Given the description of an element on the screen output the (x, y) to click on. 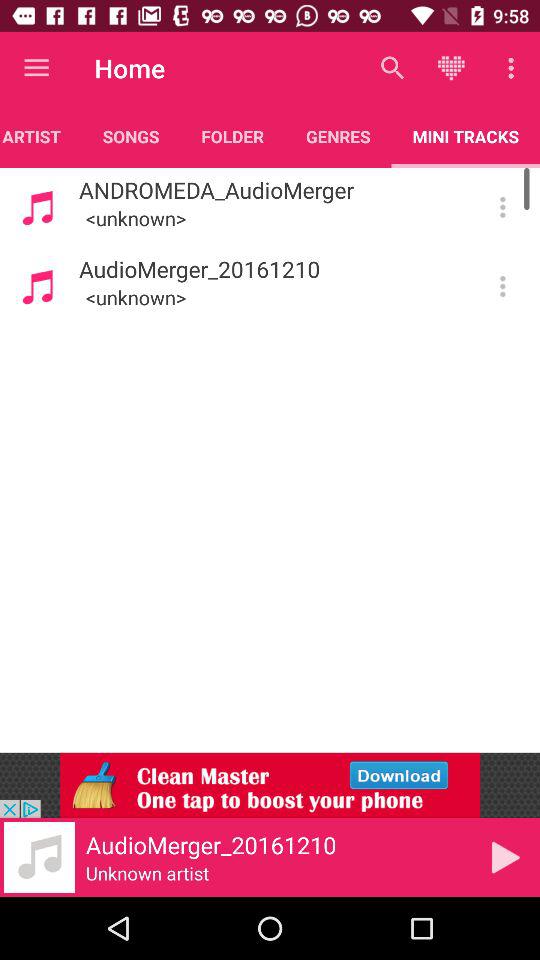
play song (505, 857)
